Given the description of an element on the screen output the (x, y) to click on. 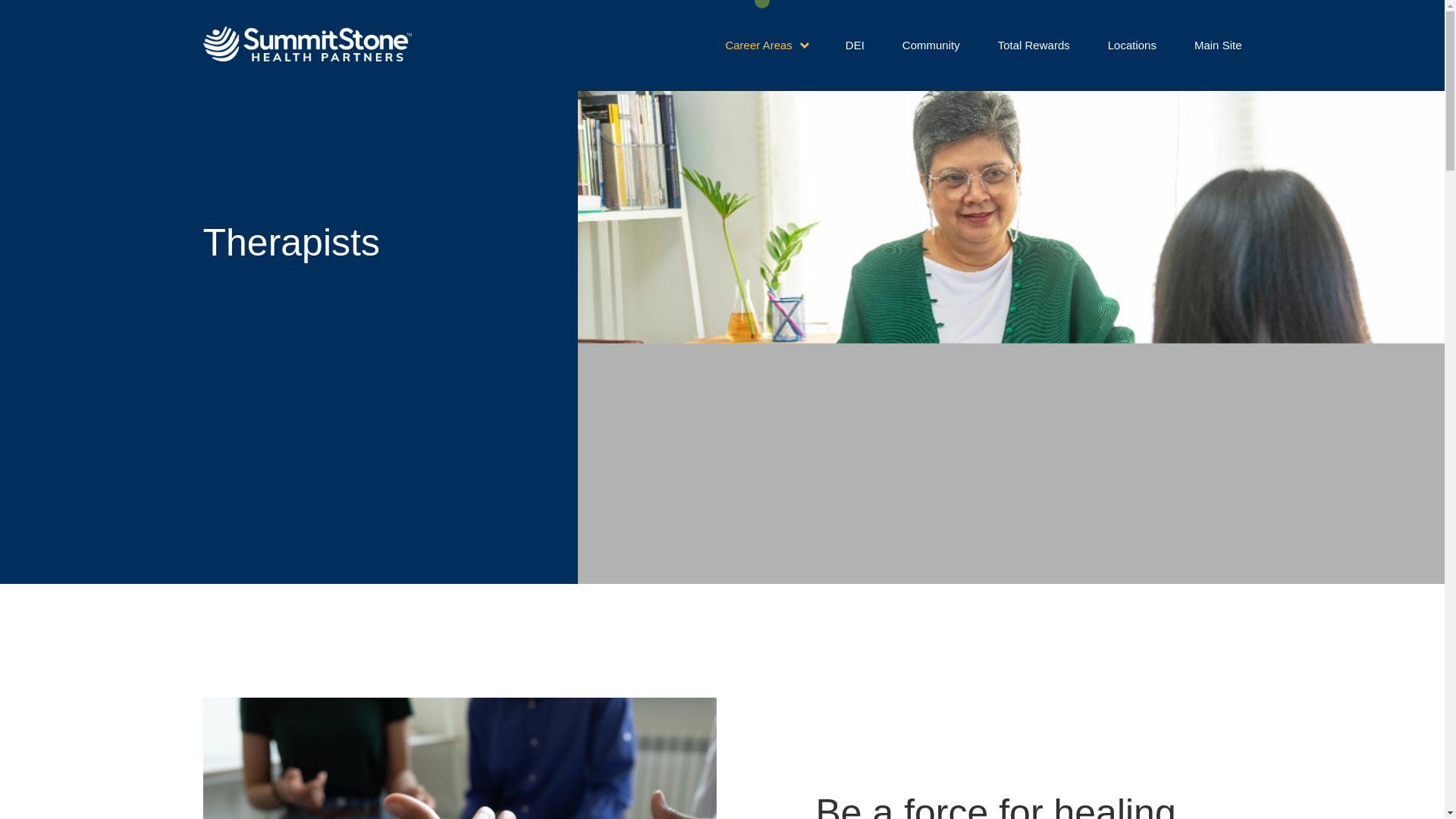
Main Site (1217, 44)
Locations (1132, 44)
DEI (854, 44)
Total Rewards (1033, 44)
Community (930, 44)
